Given the description of an element on the screen output the (x, y) to click on. 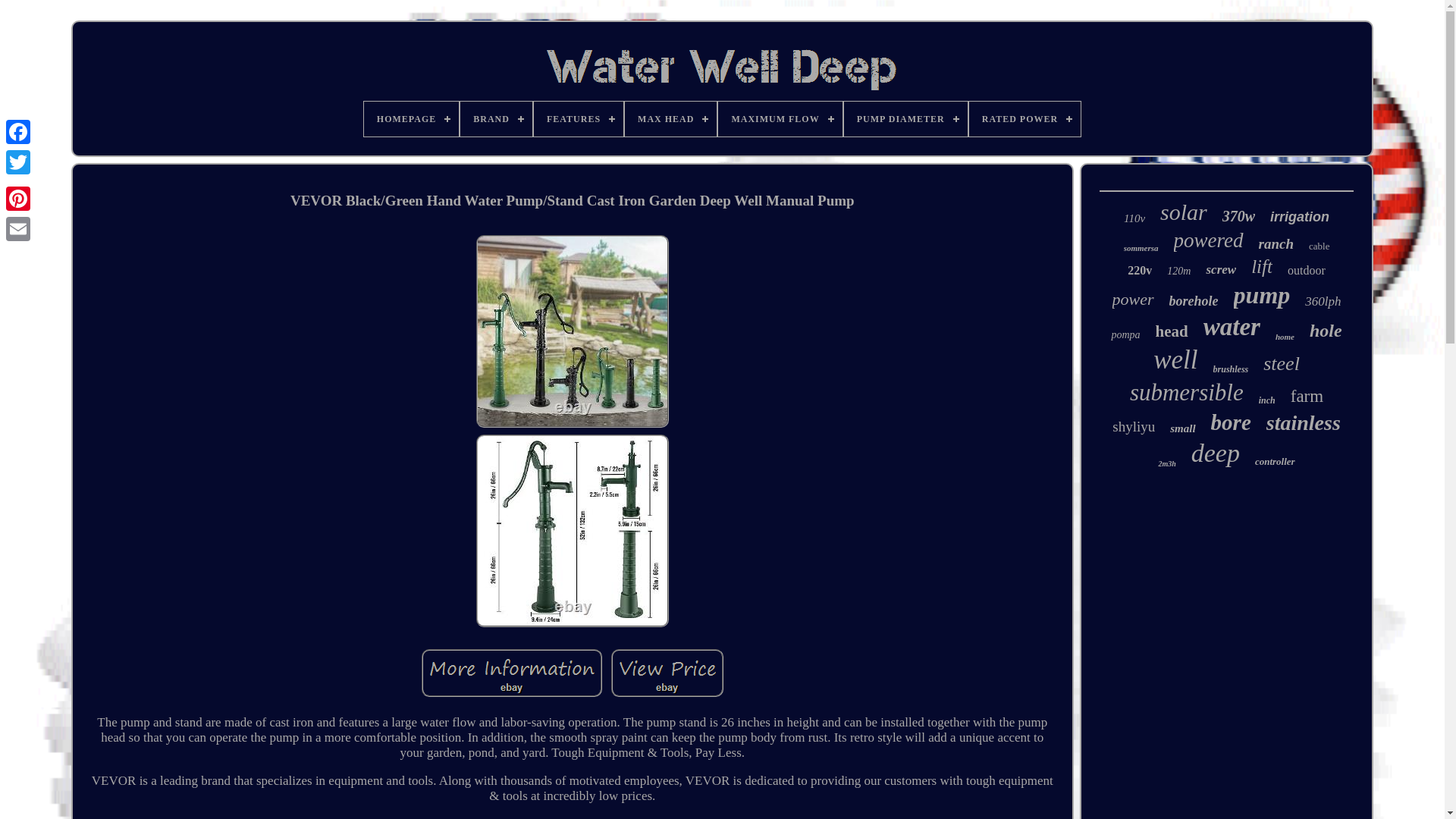
BRAND (496, 118)
HOMEPAGE (411, 118)
FEATURES (578, 118)
